Given the description of an element on the screen output the (x, y) to click on. 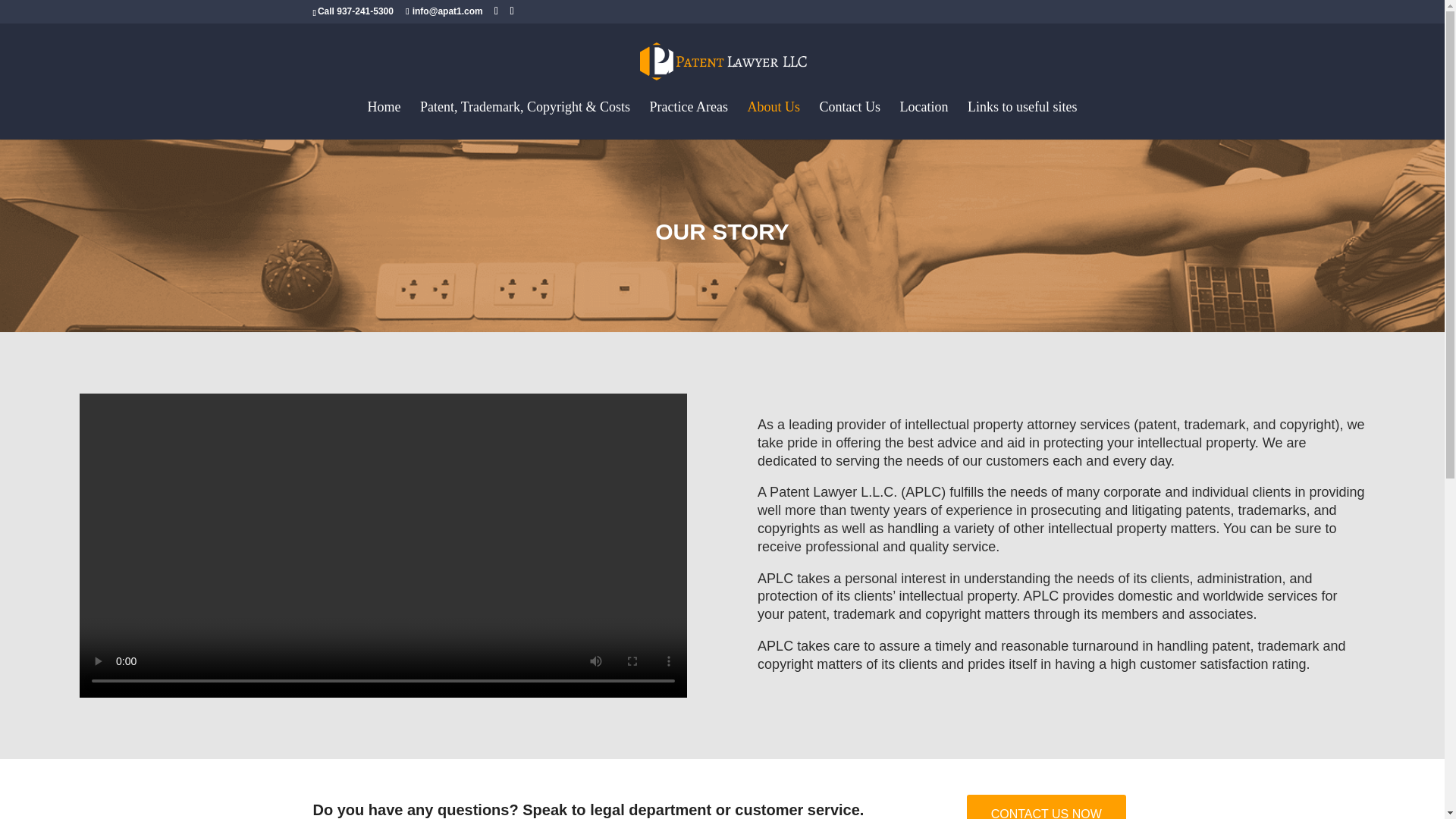
Links to useful sites (1022, 120)
Location (923, 120)
Practice Areas (688, 120)
Contact Us (849, 120)
About Us (772, 120)
CONTACT US NOW (1045, 806)
